Given the description of an element on the screen output the (x, y) to click on. 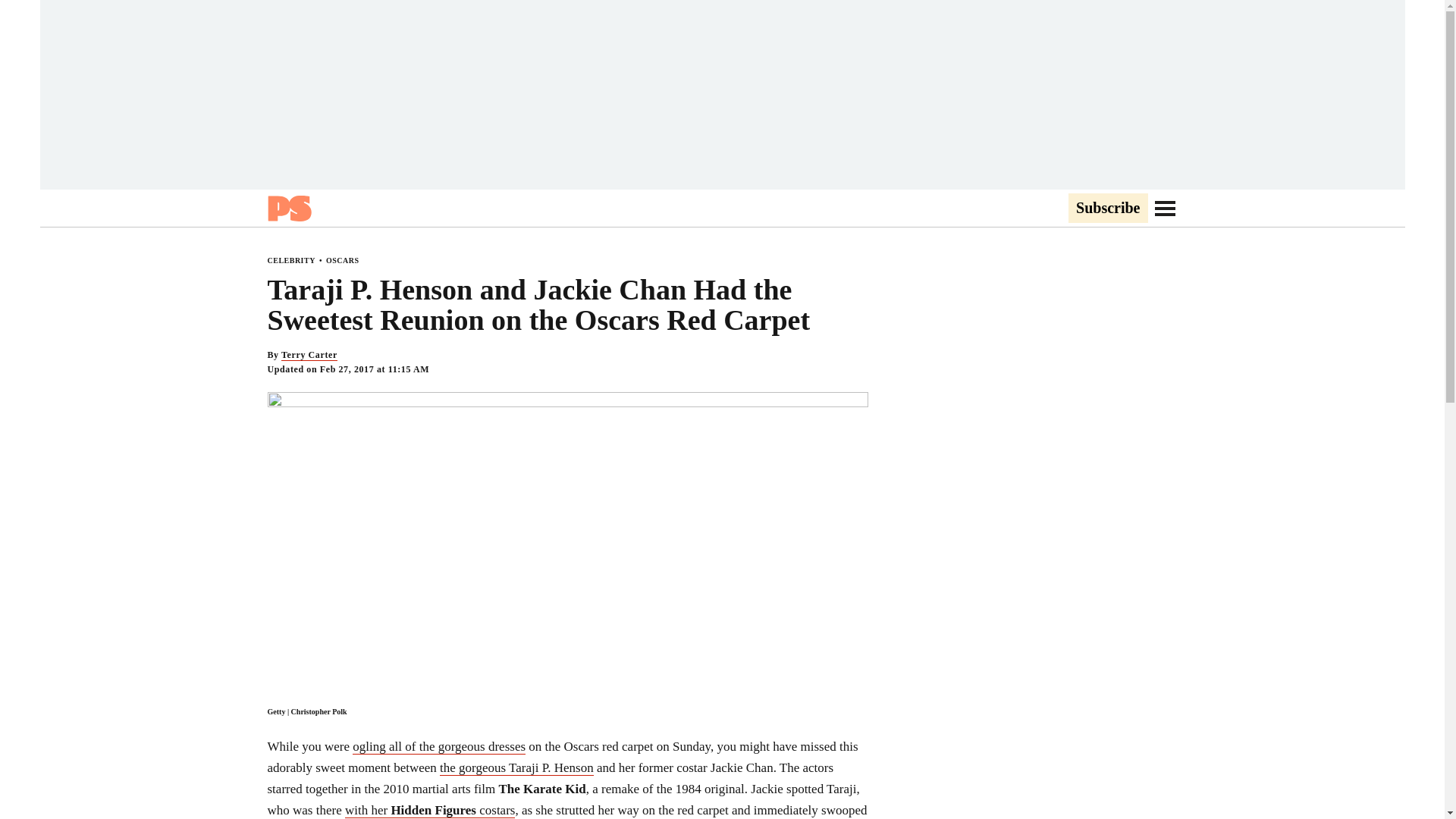
CELEBRITY (290, 260)
with her Hidden Figures costars (430, 810)
Go to Navigation (1164, 207)
Terry Carter (309, 355)
Subscribe (1107, 208)
OSCARS (342, 260)
the gorgeous Taraji P. Henson (516, 767)
Go to Navigation (1164, 207)
Popsugar (288, 208)
ogling all of the gorgeous dresses (438, 746)
